Given the description of an element on the screen output the (x, y) to click on. 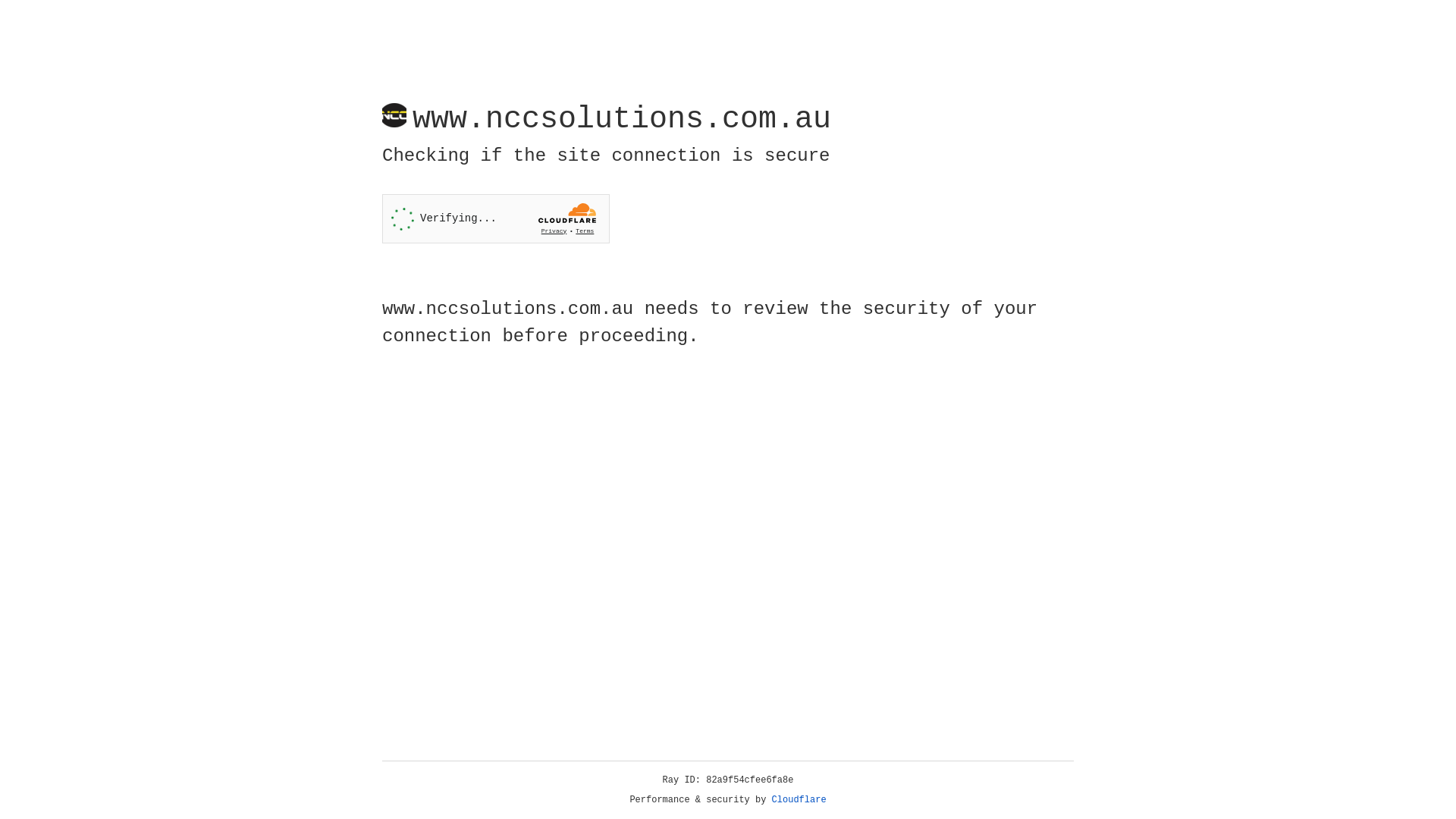
Widget containing a Cloudflare security challenge Element type: hover (495, 218)
Cloudflare Element type: text (798, 799)
